Given the description of an element on the screen output the (x, y) to click on. 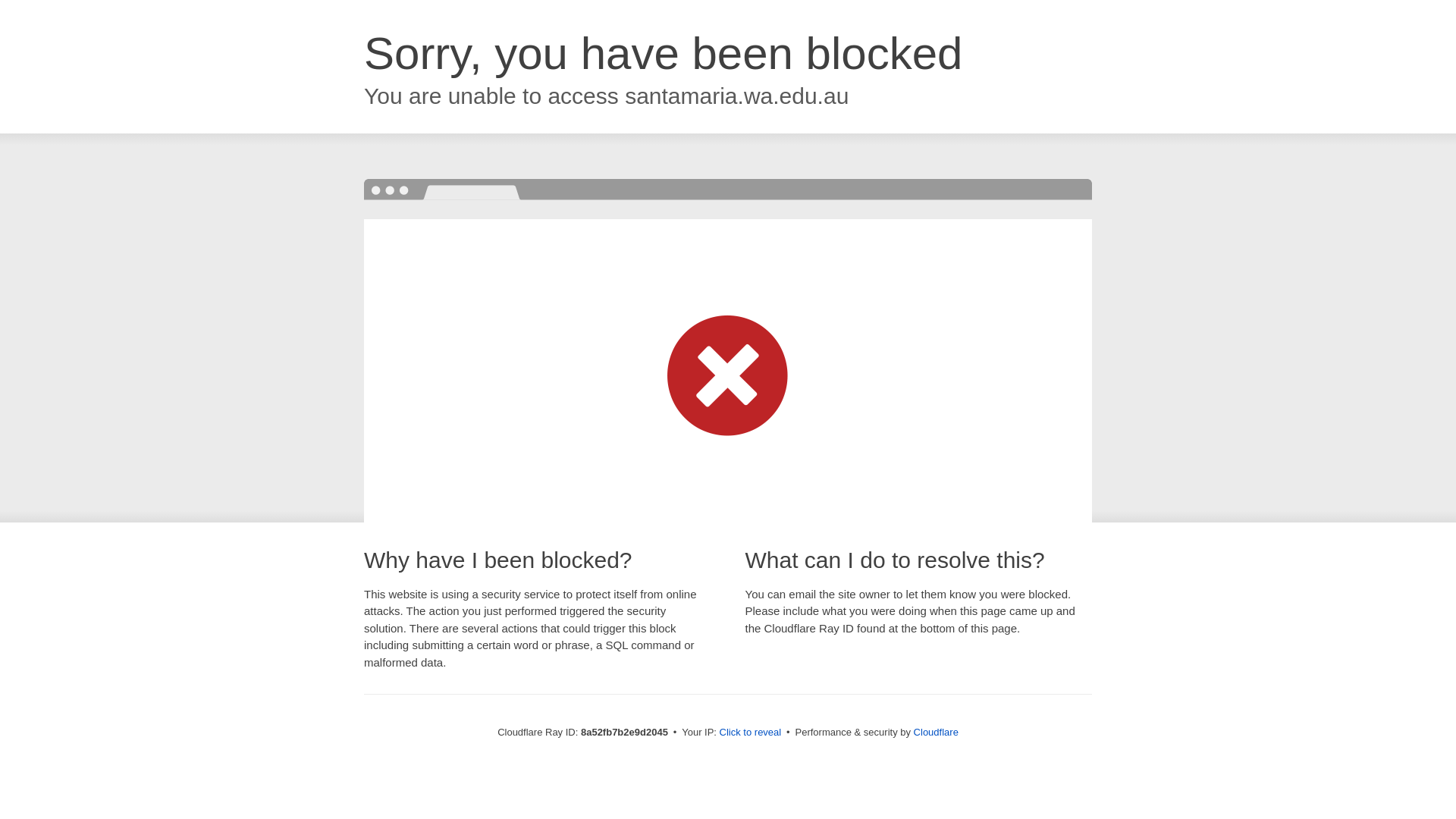
Click to reveal (750, 732)
Cloudflare (936, 731)
